Given the description of an element on the screen output the (x, y) to click on. 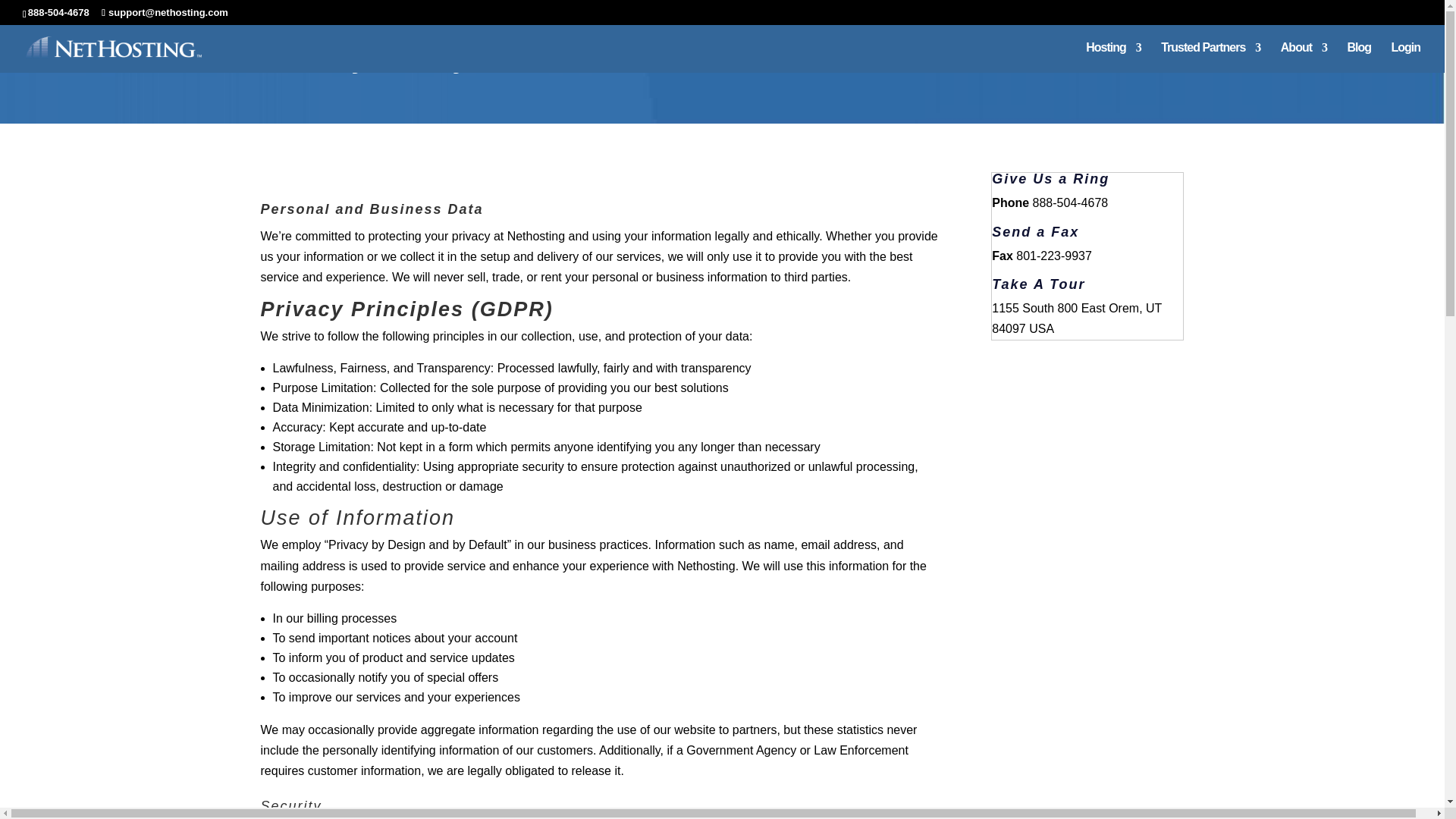
Trusted Partners (1210, 57)
Hosting (1113, 57)
Login (1405, 57)
About (1303, 57)
Tour (1066, 283)
